Given the description of an element on the screen output the (x, y) to click on. 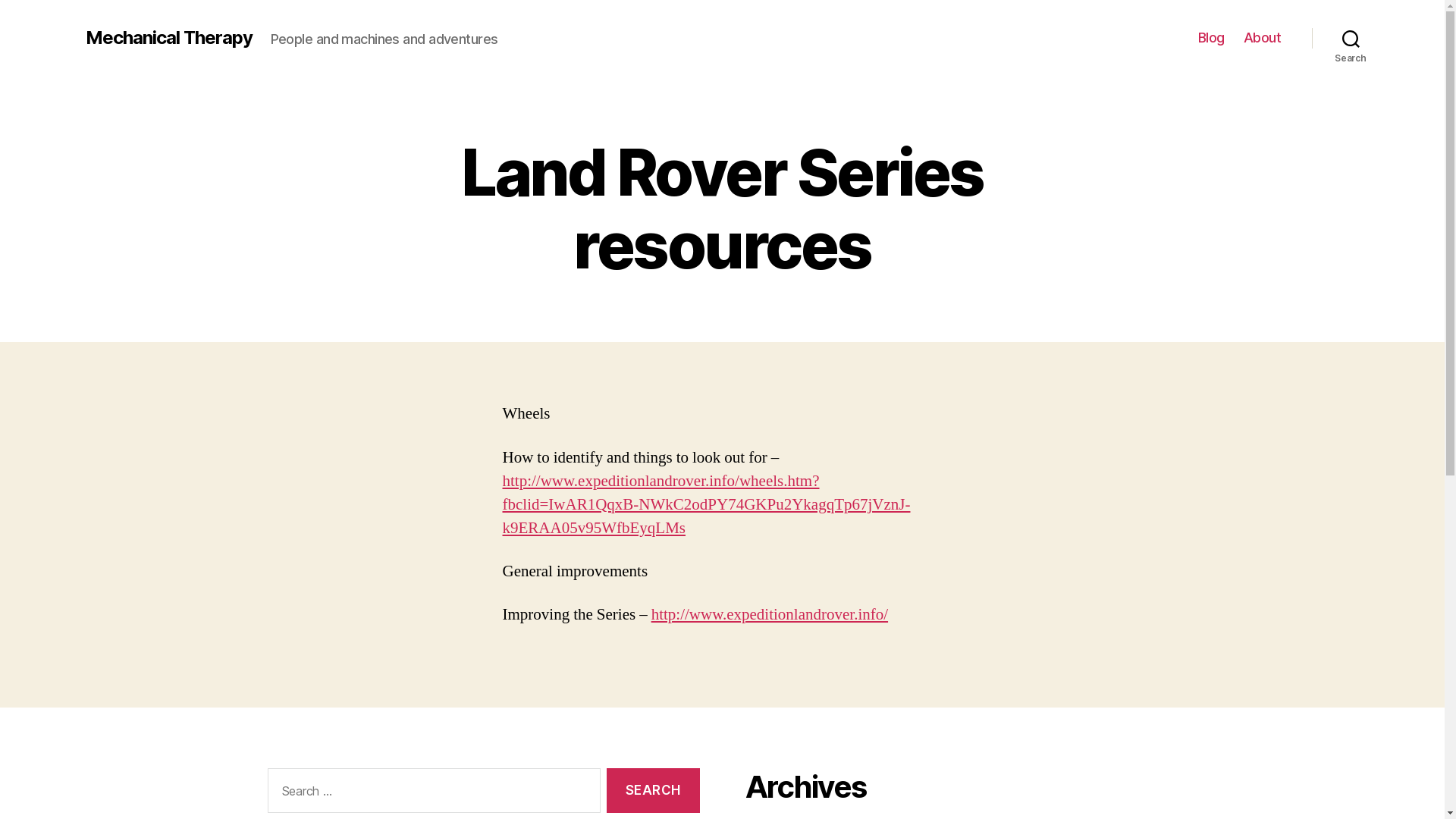
Mechanical Therapy Element type: text (167, 37)
Blog Element type: text (1211, 37)
About Element type: text (1262, 37)
Search Element type: text (652, 790)
Search Element type: text (1350, 37)
http://www.expeditionlandrover.info/ Element type: text (769, 614)
